Given the description of an element on the screen output the (x, y) to click on. 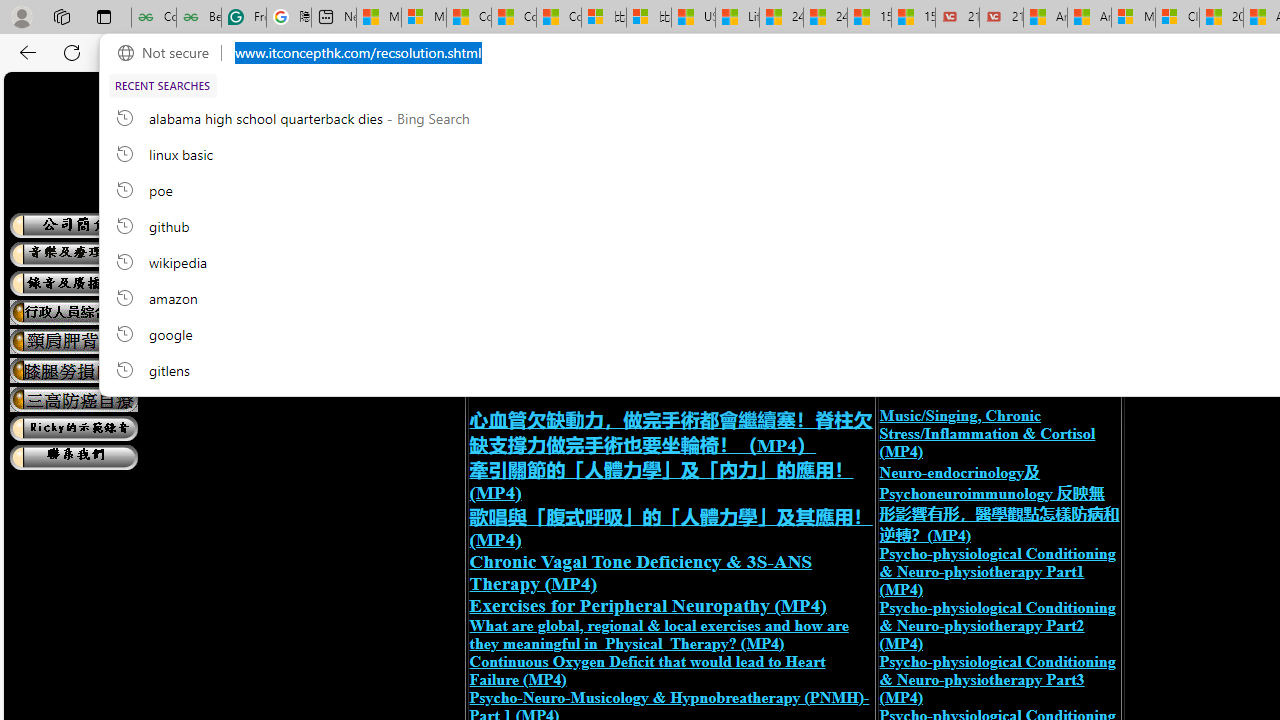
20 Ways to Boost Your Protein Intake at Every Meal (1220, 17)
Music/Singing, Chronic Stress/Inflammation & Cortisol (MP4) (987, 433)
21 Movies That Outdid the Books They Were Based On (1001, 17)
